Given the description of an element on the screen output the (x, y) to click on. 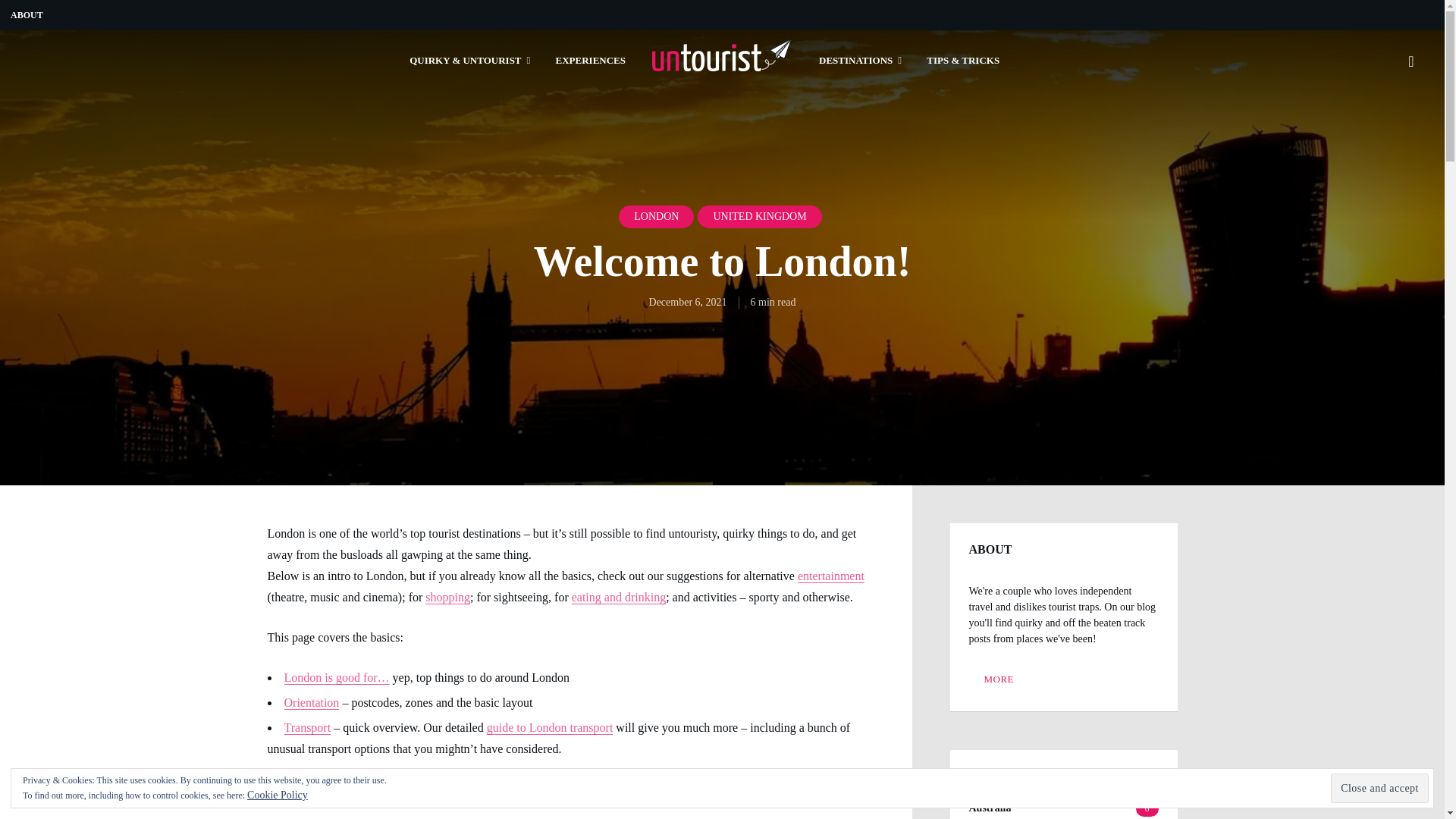
DESTINATIONS (859, 60)
EXPERIENCES (591, 60)
UNITED KINGDOM (759, 216)
Orientation (311, 702)
Close and accept (1379, 788)
ABOUT (26, 15)
entertainment (830, 575)
LONDON (656, 216)
Transport (306, 727)
guide to London transport (549, 727)
shopping (447, 596)
eating and drinking (618, 596)
